Given the description of an element on the screen output the (x, y) to click on. 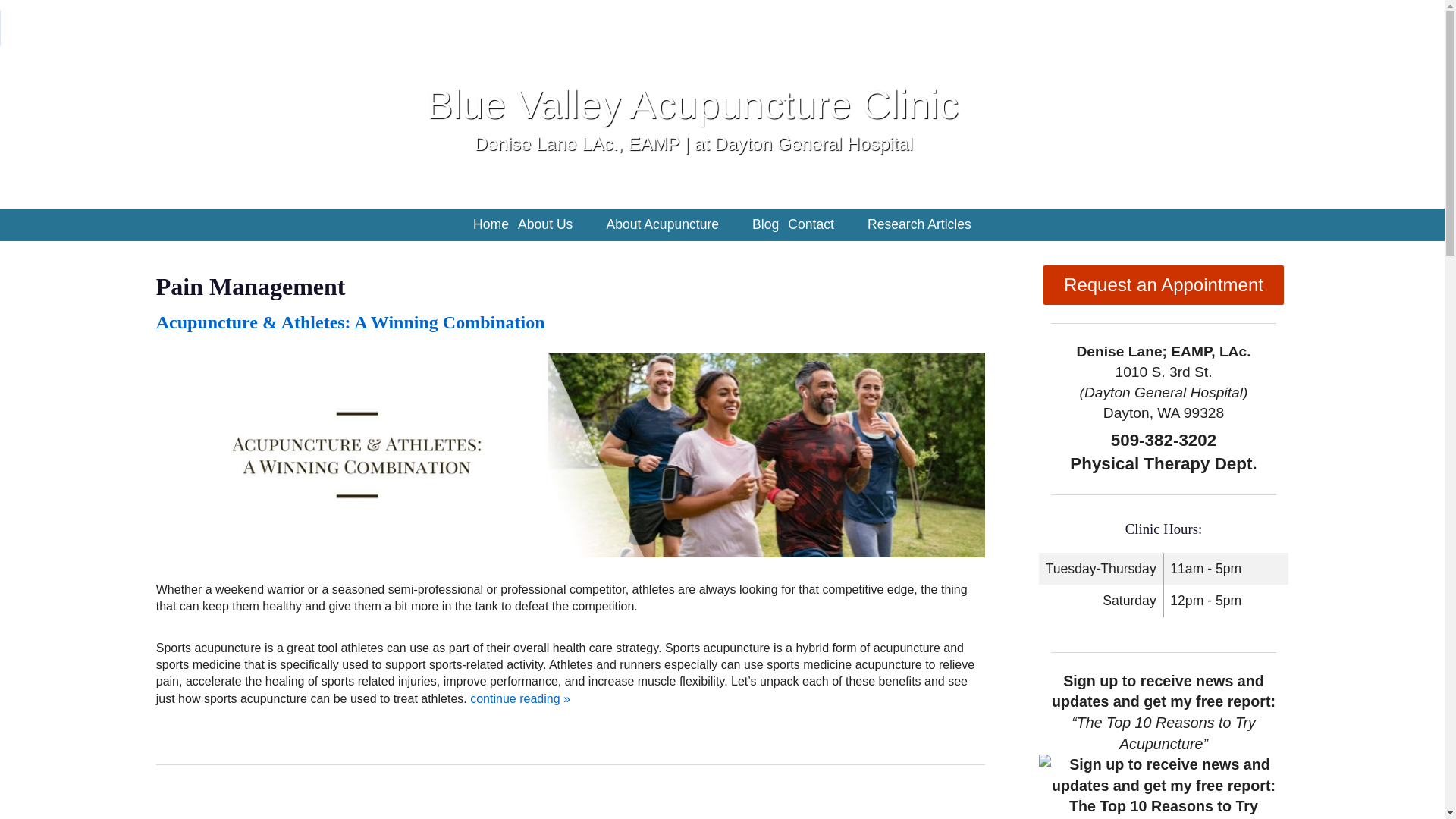
About Us (544, 224)
About Acupuncture (662, 224)
Read (349, 322)
Research Articles (919, 224)
Request an Appointment (1163, 284)
Blog (765, 224)
Home (490, 224)
Contact (810, 224)
